Given the description of an element on the screen output the (x, y) to click on. 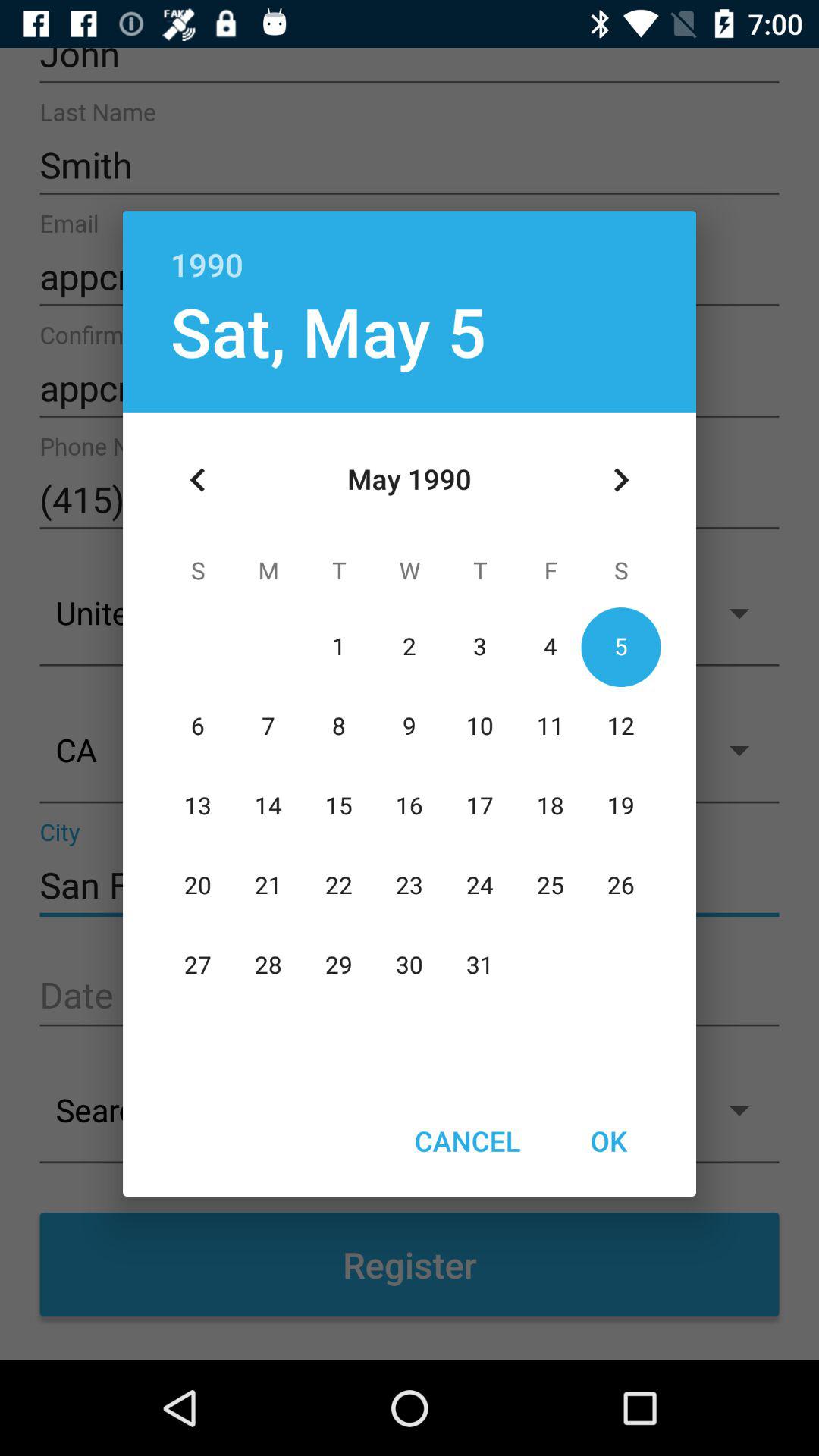
launch item below 1990 item (328, 331)
